Given the description of an element on the screen output the (x, y) to click on. 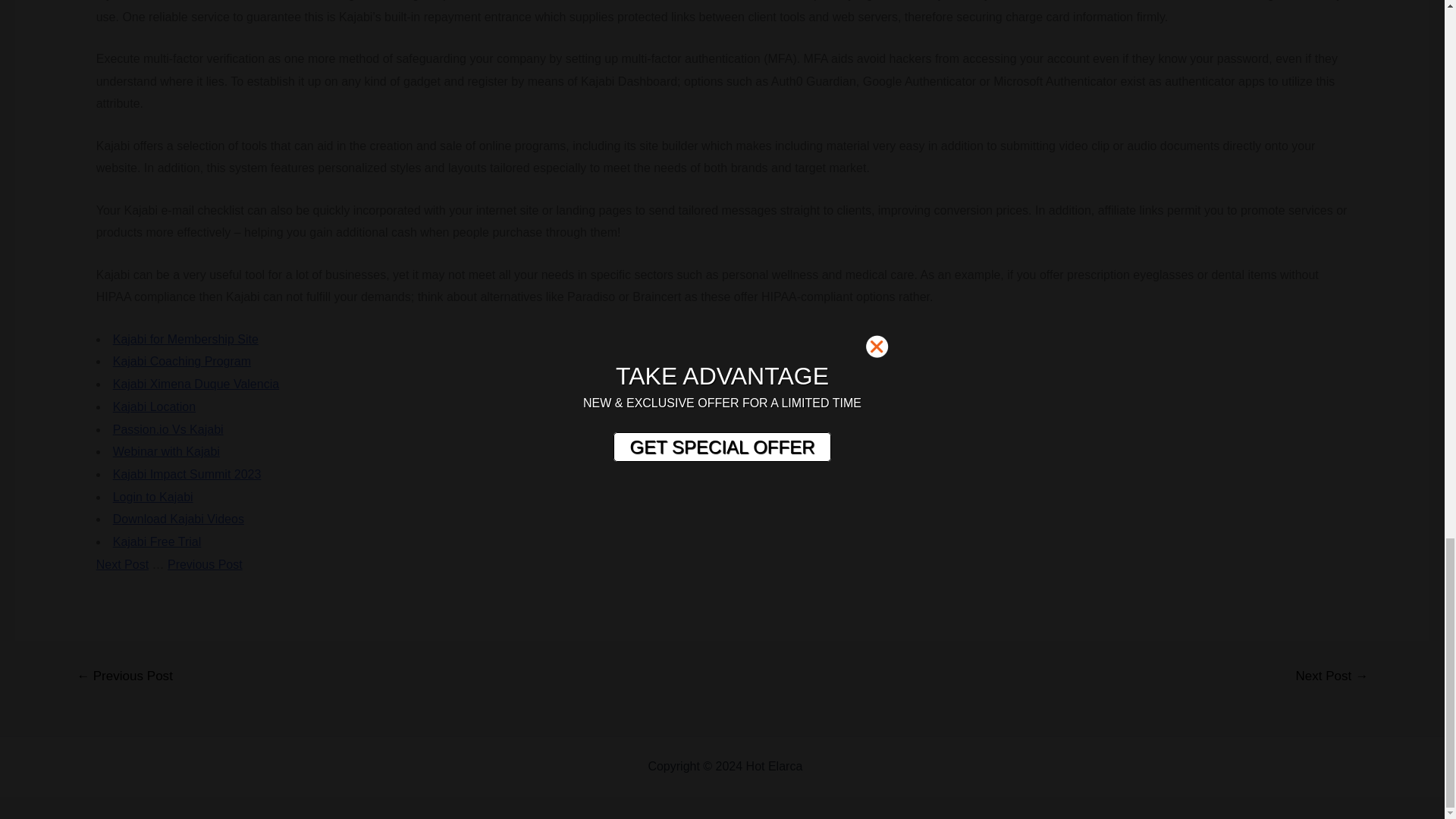
Kajabi Location (154, 406)
Kajabi Impact Summit 2023 (187, 473)
Kajabi Free Trial (157, 541)
Kajabi Coaching Program (181, 360)
Kajabi Coaching Program (181, 360)
Login to Kajabi (153, 496)
Kajabi Location (154, 406)
Kajabi Impact Summit 2023 (187, 473)
Kajabi Free Trial (157, 541)
Webinar with Kajabi (166, 451)
